Given the description of an element on the screen output the (x, y) to click on. 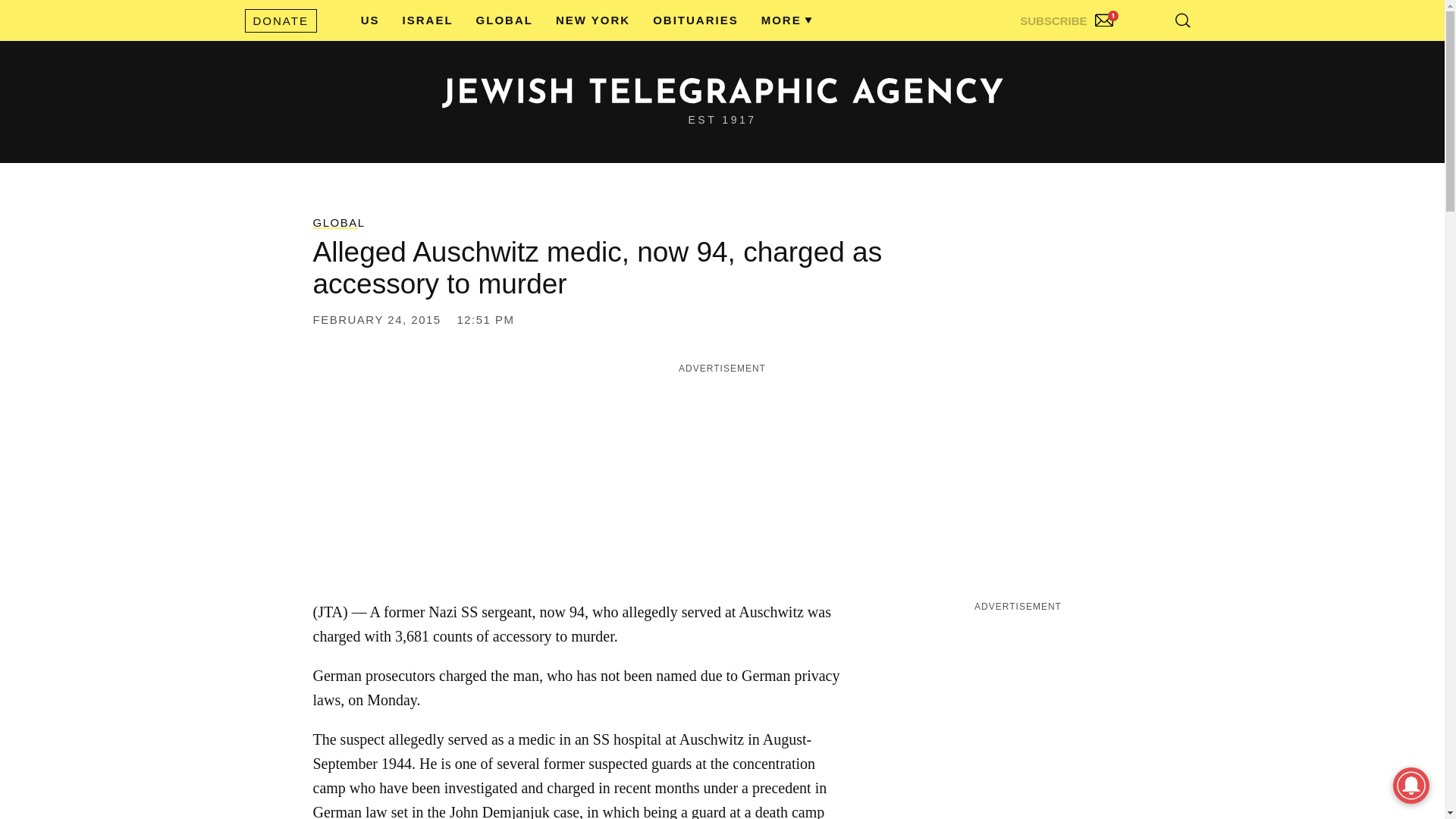
US (370, 19)
GLOBAL (504, 19)
OBITUARIES (695, 19)
3rd party ad content (1017, 708)
SEARCH TOGGLESEARCH TOGGLE (1182, 20)
NEW YORK (593, 19)
ISRAEL (427, 19)
SUBSCRIBE (1068, 17)
Search (1144, 53)
DONATE (279, 20)
MORE (781, 19)
